Given the description of an element on the screen output the (x, y) to click on. 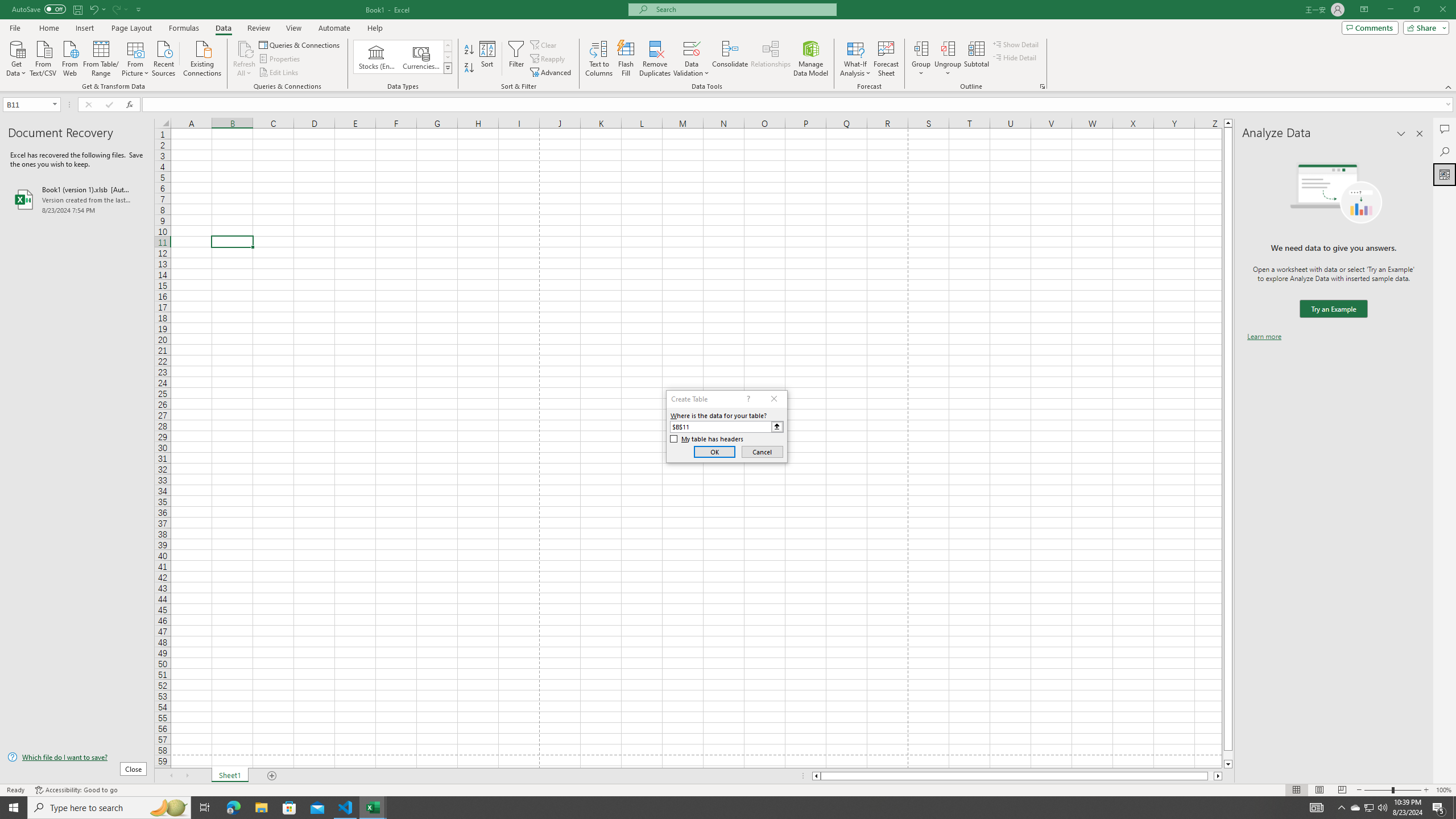
Properties (280, 58)
Sort... (487, 58)
Normal (1296, 790)
Line down (1228, 764)
What-If Analysis (855, 58)
Group... (921, 48)
Data Validation... (691, 48)
More Options (947, 68)
File Tab (15, 27)
Class: NetUIImage (447, 68)
Save (77, 9)
Collapse the Ribbon (1448, 86)
Close pane (1419, 133)
